Given the description of an element on the screen output the (x, y) to click on. 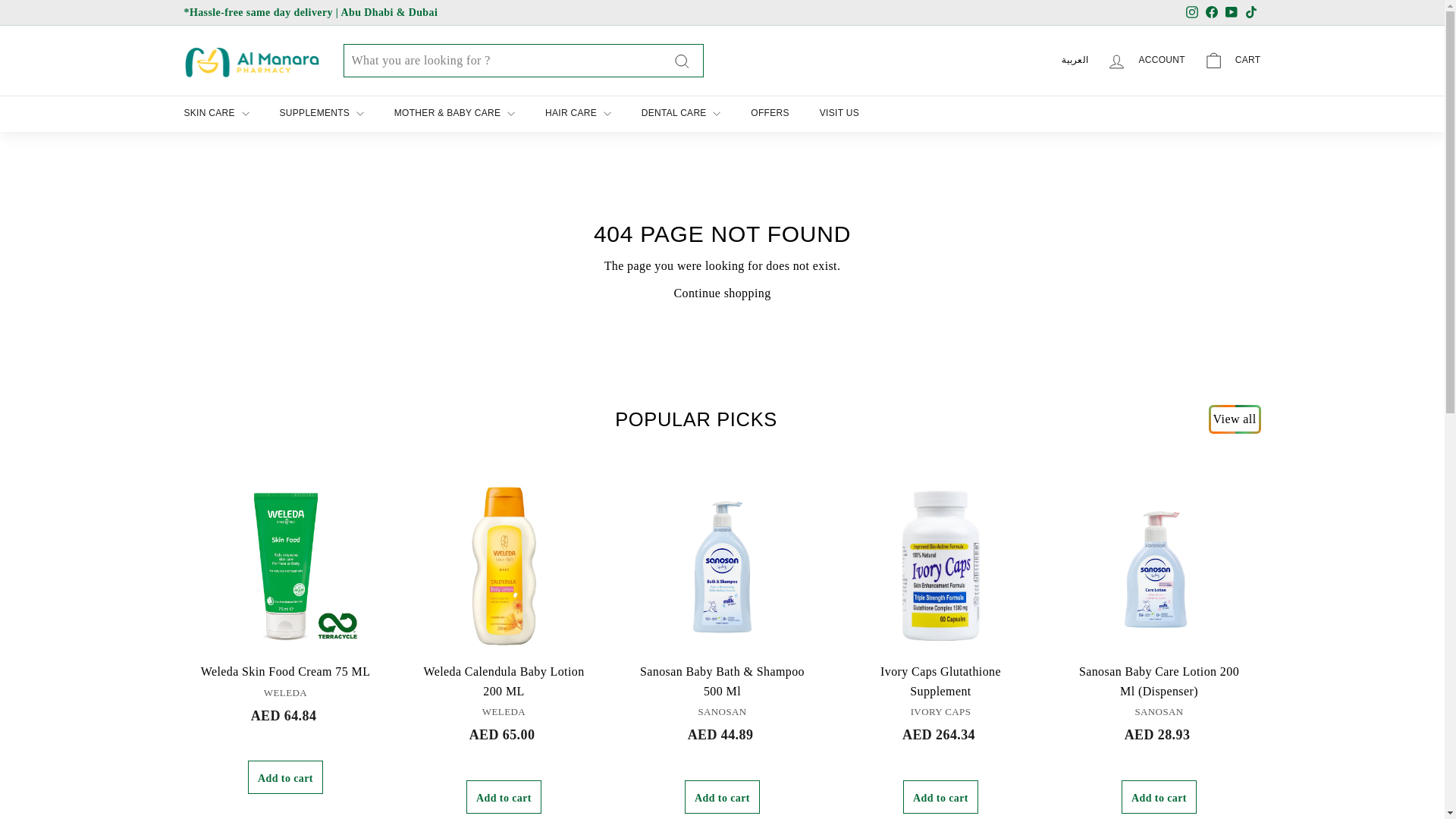
instagram (1192, 11)
ACCOUNT (1145, 60)
Add to cart (940, 797)
Add to cart (722, 797)
Add to cart (285, 776)
Add to cart (1158, 797)
Add to cart (503, 797)
